Given the description of an element on the screen output the (x, y) to click on. 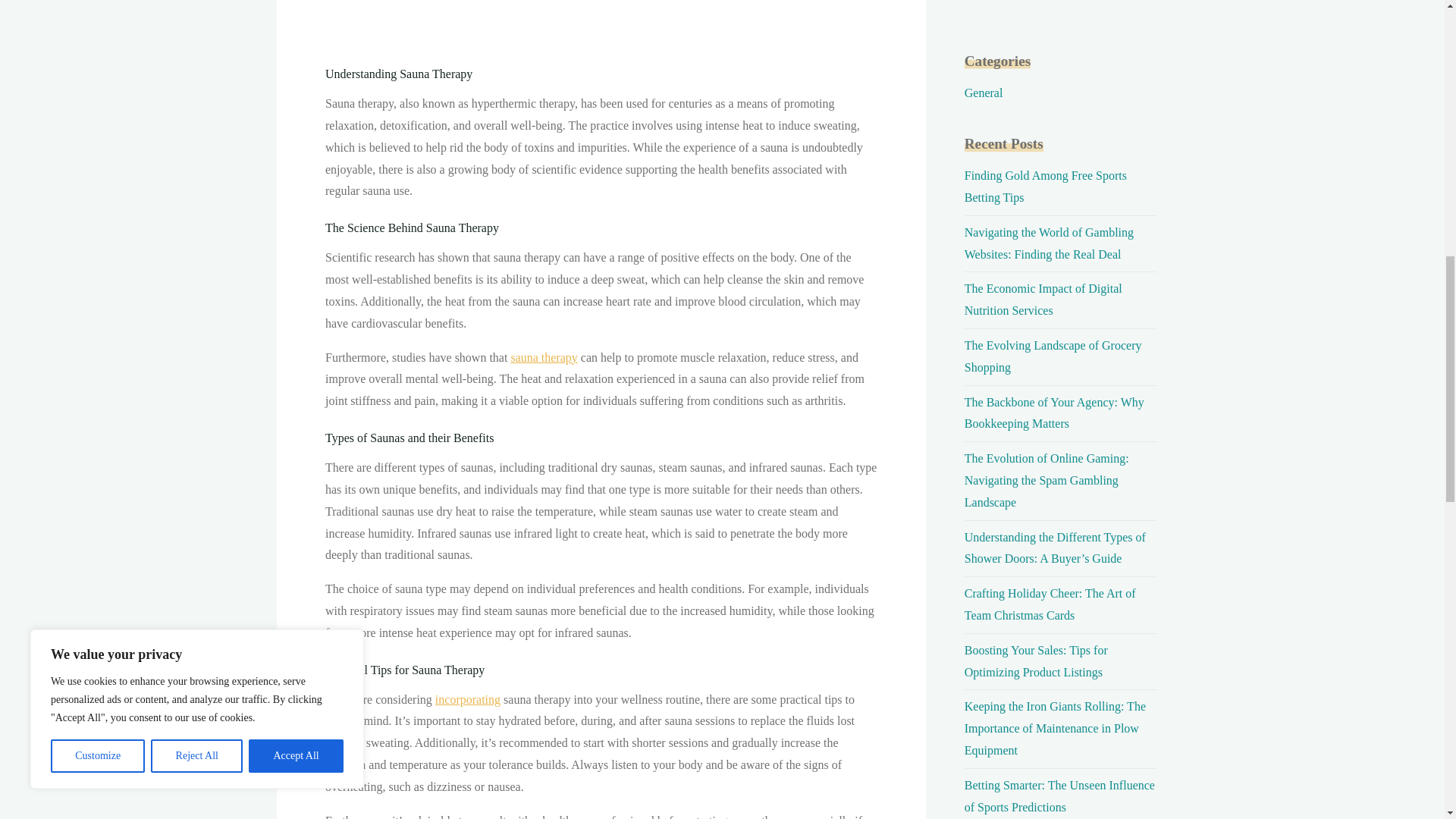
The Evolving Landscape of Grocery Shopping (1052, 356)
The Economic Impact of Digital Nutrition Services (1042, 298)
incorporating (466, 698)
Finding Gold Among Free Sports Betting Tips (1044, 185)
General (983, 92)
sauna therapy (543, 357)
